Given the description of an element on the screen output the (x, y) to click on. 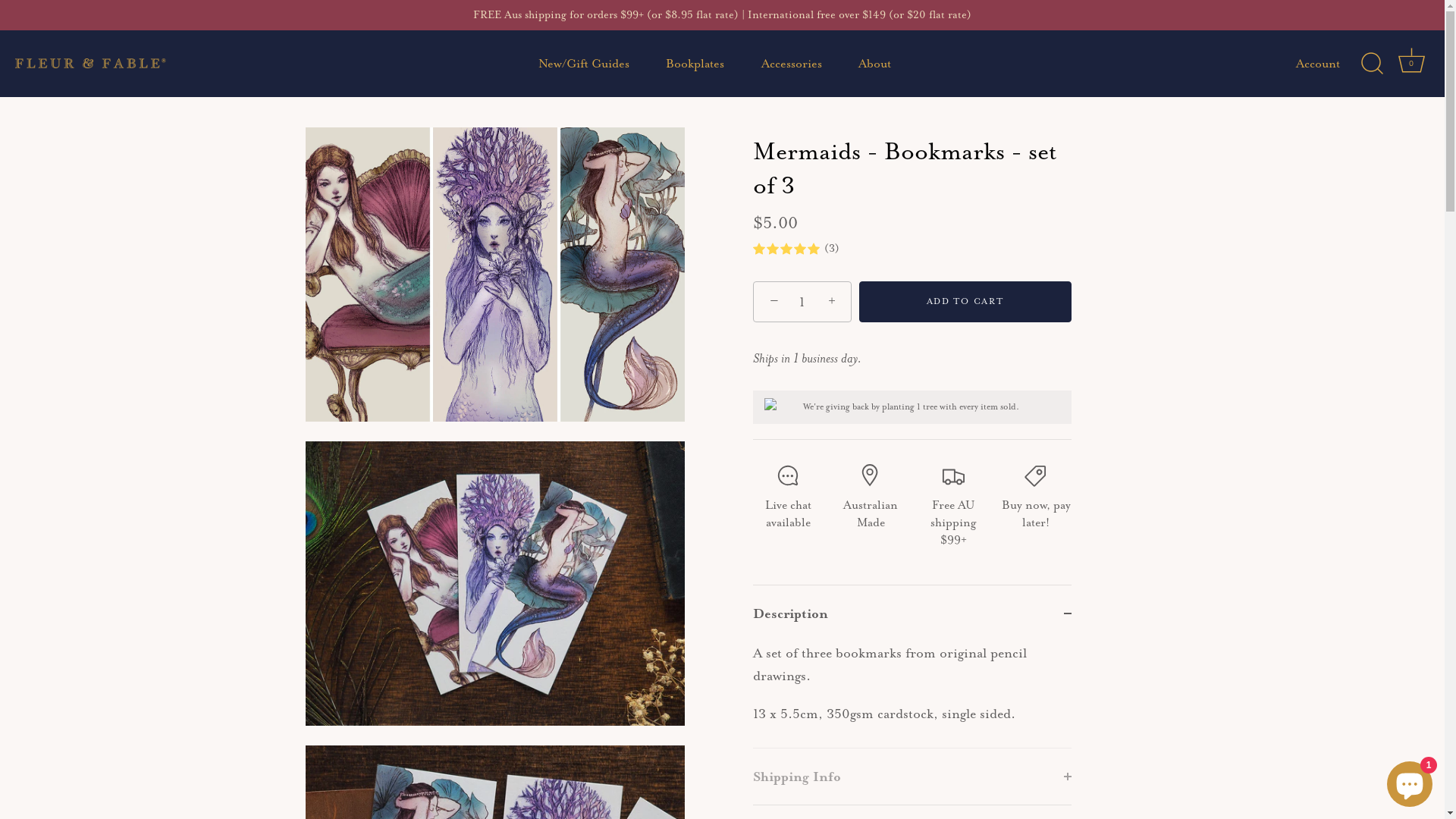
Shopify online store chat Element type: hover (1409, 780)
About Element type: text (873, 63)
Cart
0 Element type: text (1410, 63)
New/Gift Guides Element type: text (584, 63)
Account Element type: text (1330, 63)
 (3) Element type: text (911, 250)
Shipping Info Element type: text (911, 775)
Bookplates Element type: text (694, 63)
+ Element type: text (833, 300)
Description Element type: text (911, 613)
ADD TO CART Element type: text (964, 301)
Accessories Element type: text (790, 63)
